Given the description of an element on the screen output the (x, y) to click on. 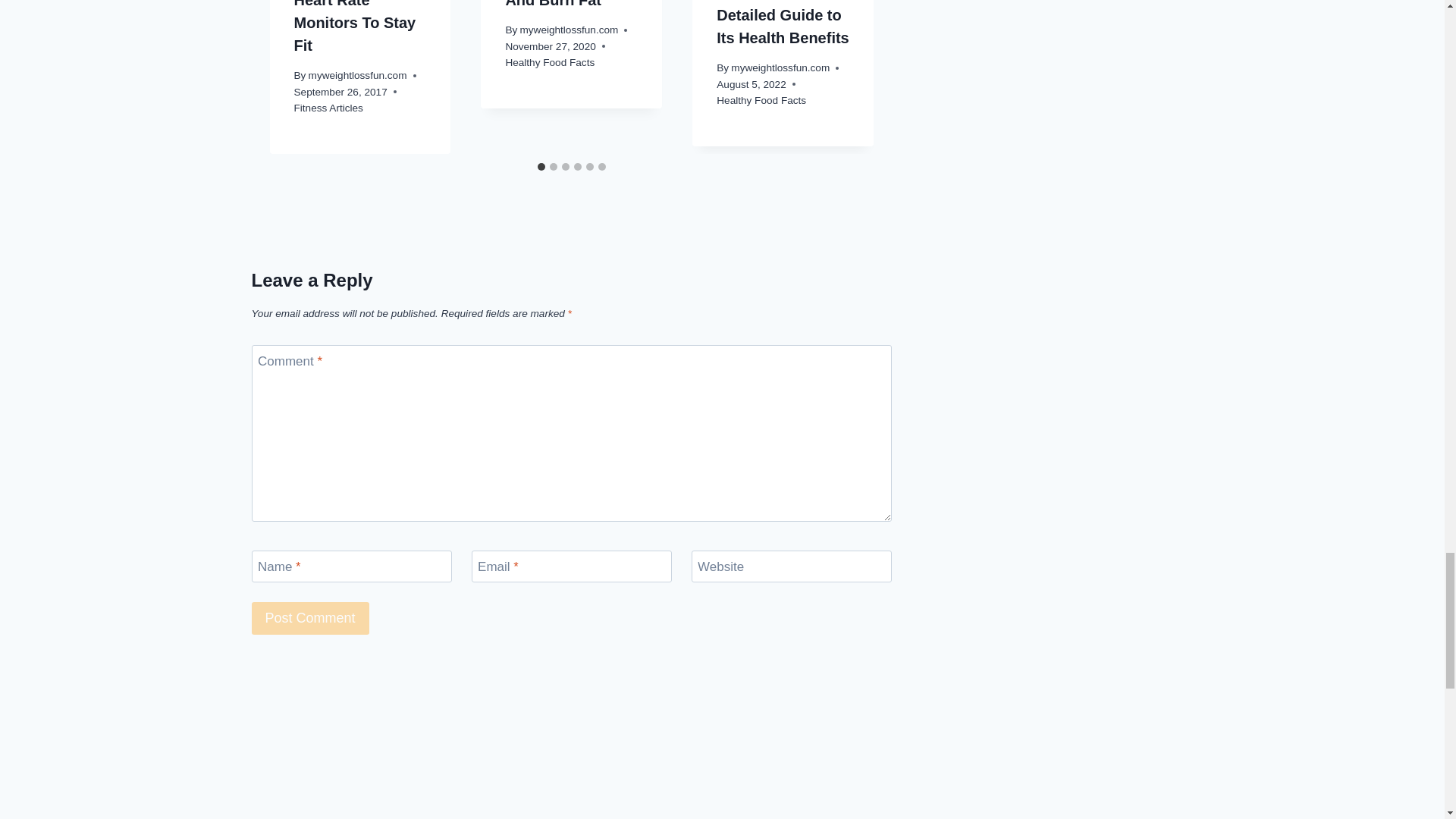
Why You Need Pedometers And Heart Rate Monitors To Stay Fit (355, 27)
Post Comment (310, 617)
myweightlossfun.com (357, 75)
